Given the description of an element on the screen output the (x, y) to click on. 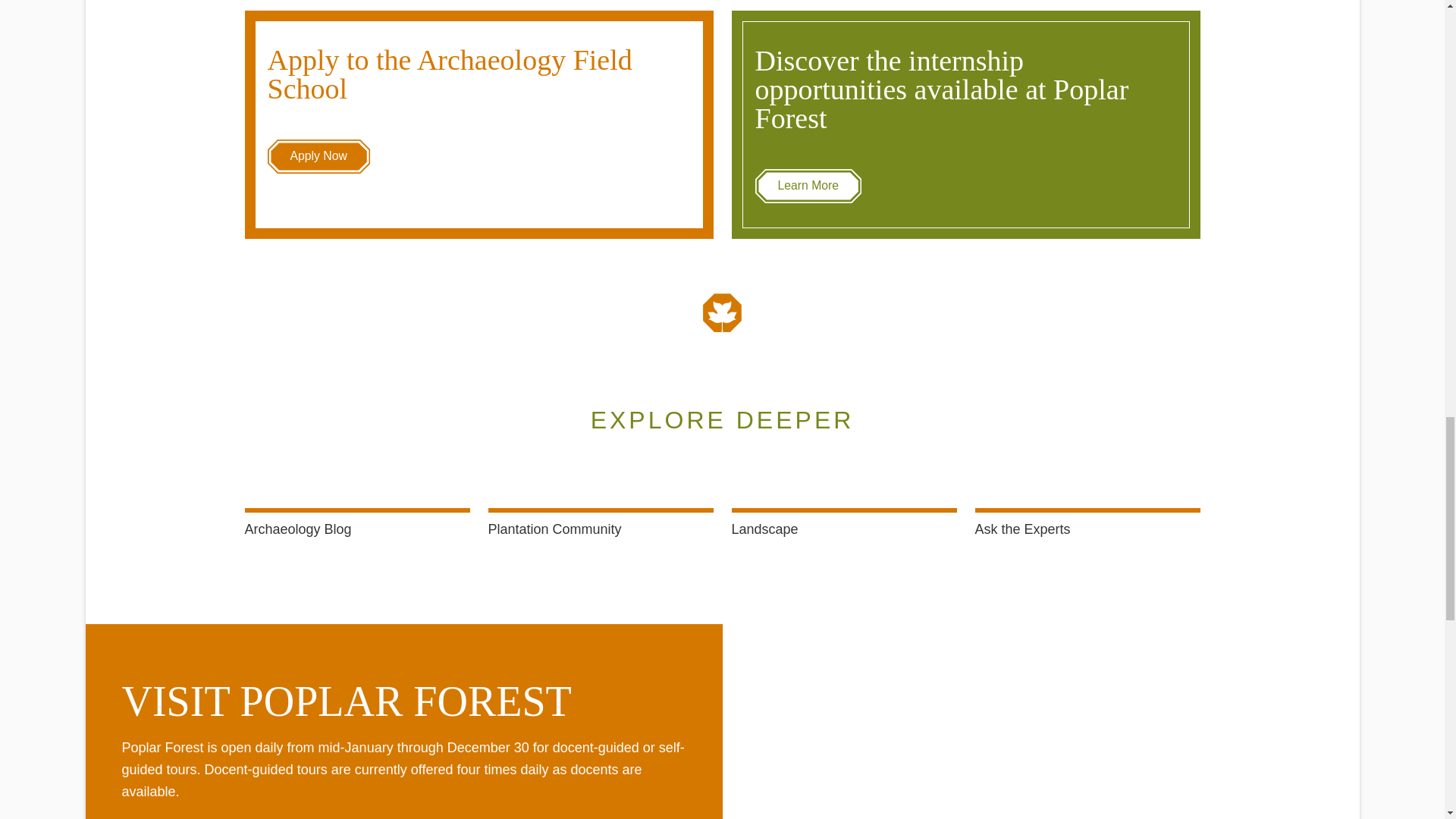
Plantation Community (600, 529)
Archaeology Blog (356, 529)
Landscape (843, 529)
Apply Now (317, 156)
Ask the Experts (1087, 529)
Learn More (808, 185)
